Given the description of an element on the screen output the (x, y) to click on. 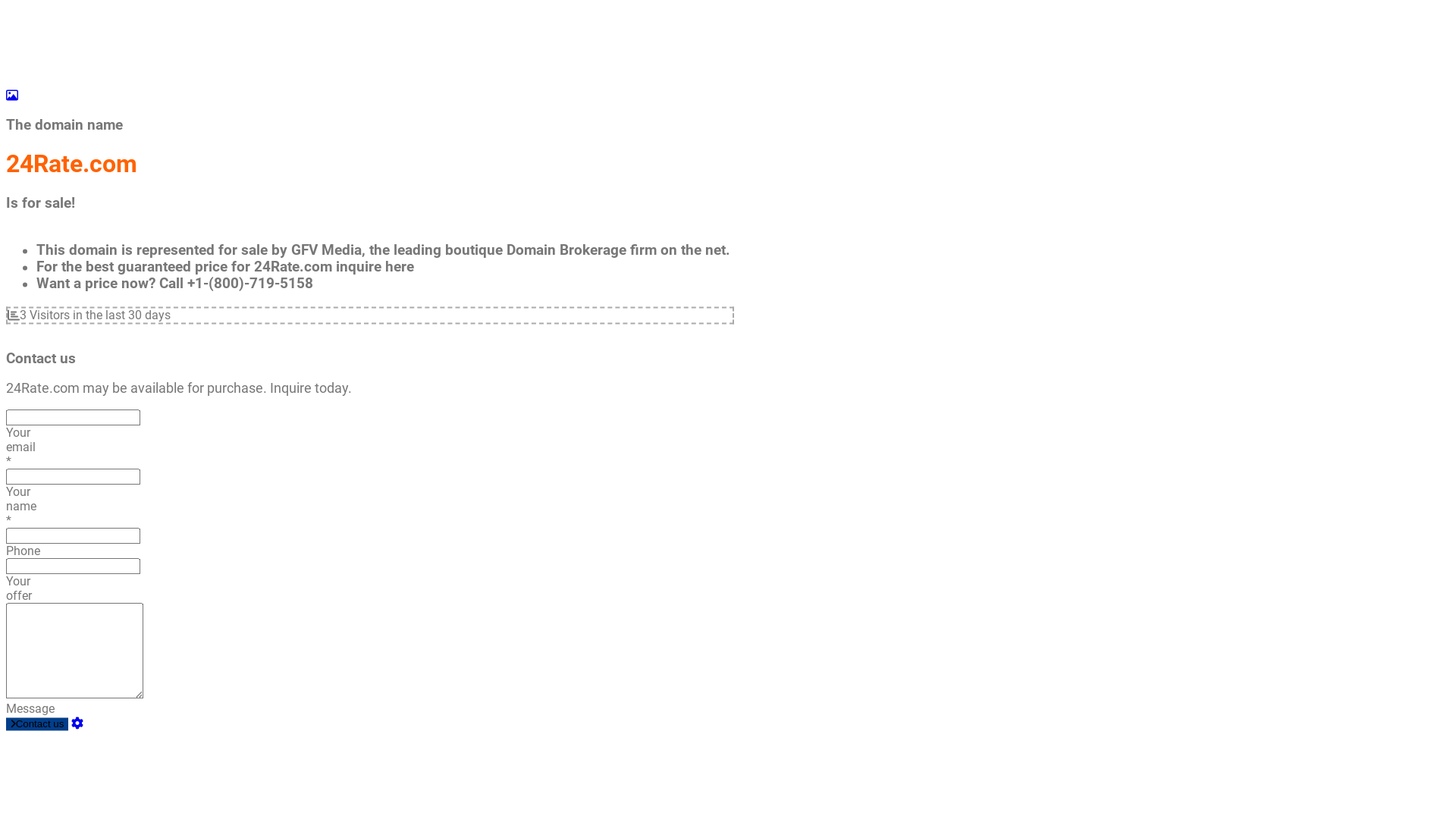
Contact us Element type: text (37, 724)
